Given the description of an element on the screen output the (x, y) to click on. 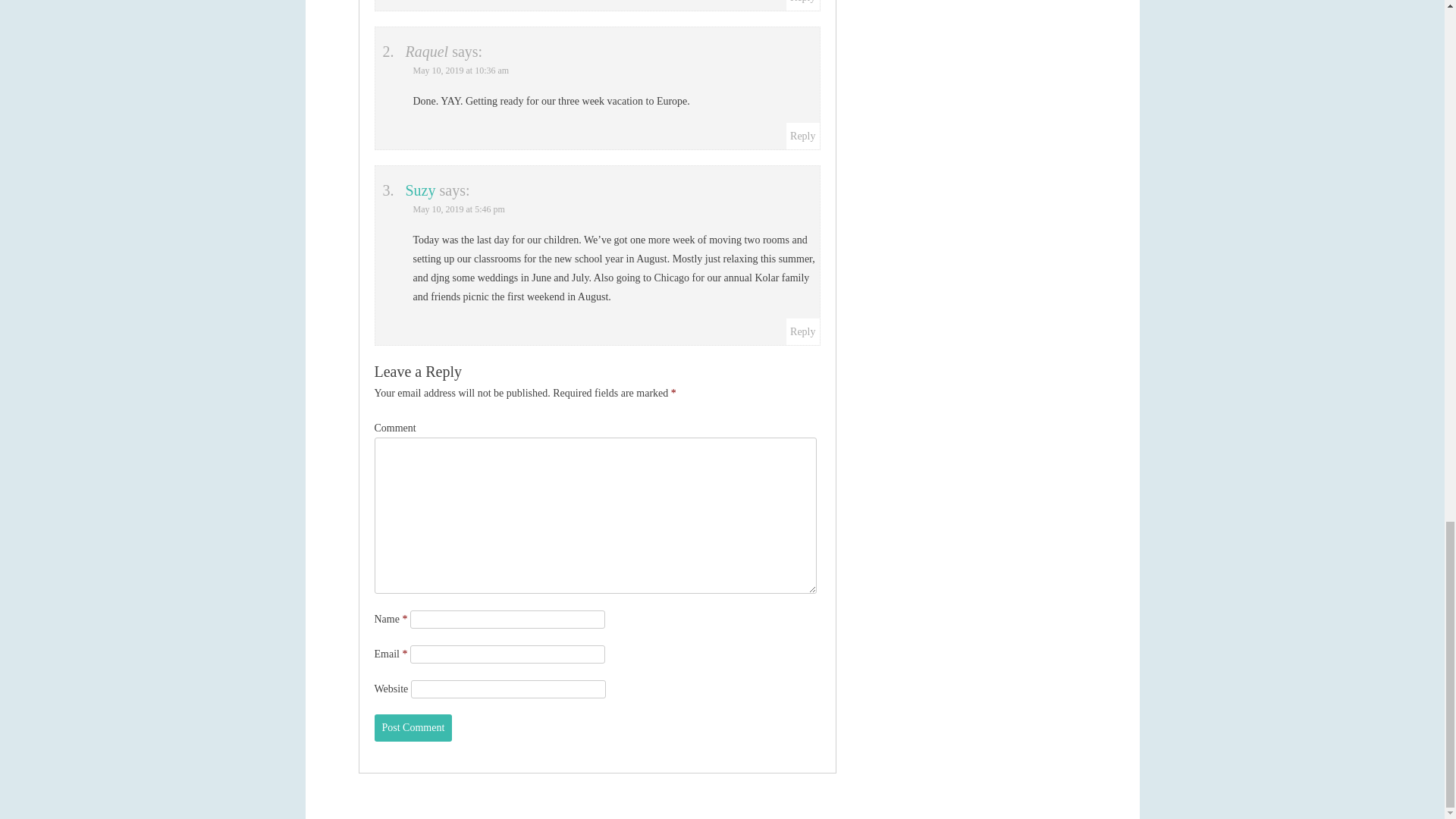
May 10, 2019 at 10:36 am (460, 70)
Reply (802, 331)
Post Comment (413, 728)
Reply (802, 1)
Post Comment (413, 728)
May 10, 2019 at 5:46 pm (457, 208)
Suzy (419, 190)
Reply (802, 135)
